Given the description of an element on the screen output the (x, y) to click on. 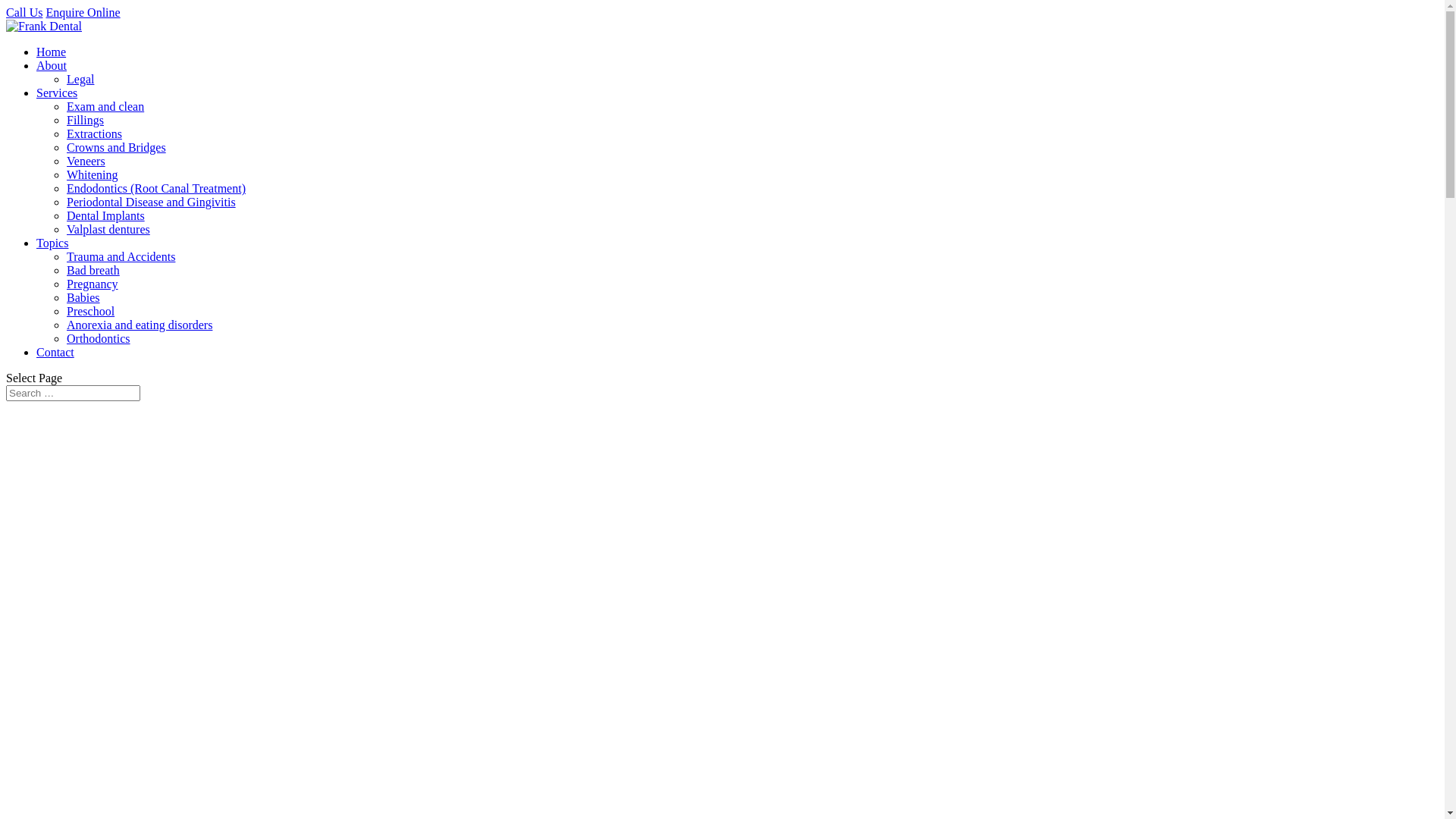
Call Us Element type: text (24, 12)
Exam and clean Element type: text (105, 106)
Home Element type: text (50, 51)
Topics Element type: text (52, 242)
Periodontal Disease and Gingivitis Element type: text (150, 201)
Legal Element type: text (80, 78)
Pregnancy Element type: text (92, 283)
Anorexia and eating disorders Element type: text (139, 324)
Babies Element type: text (83, 297)
Orthodontics Element type: text (98, 338)
Valplast dentures Element type: text (108, 228)
Veneers Element type: text (85, 160)
Endodontics (Root Canal Treatment) Element type: text (155, 188)
Contact Element type: text (55, 351)
Crowns and Bridges Element type: text (116, 147)
Search for: Element type: hover (73, 393)
About Element type: text (51, 65)
Enquire Online Element type: text (82, 12)
Services Element type: text (56, 92)
Bad breath Element type: text (92, 269)
Whitening Element type: text (92, 174)
Trauma and Accidents Element type: text (120, 256)
Fillings Element type: text (84, 119)
Dental Implants Element type: text (105, 215)
Preschool Element type: text (90, 310)
Extractions Element type: text (94, 133)
